Given the description of an element on the screen output the (x, y) to click on. 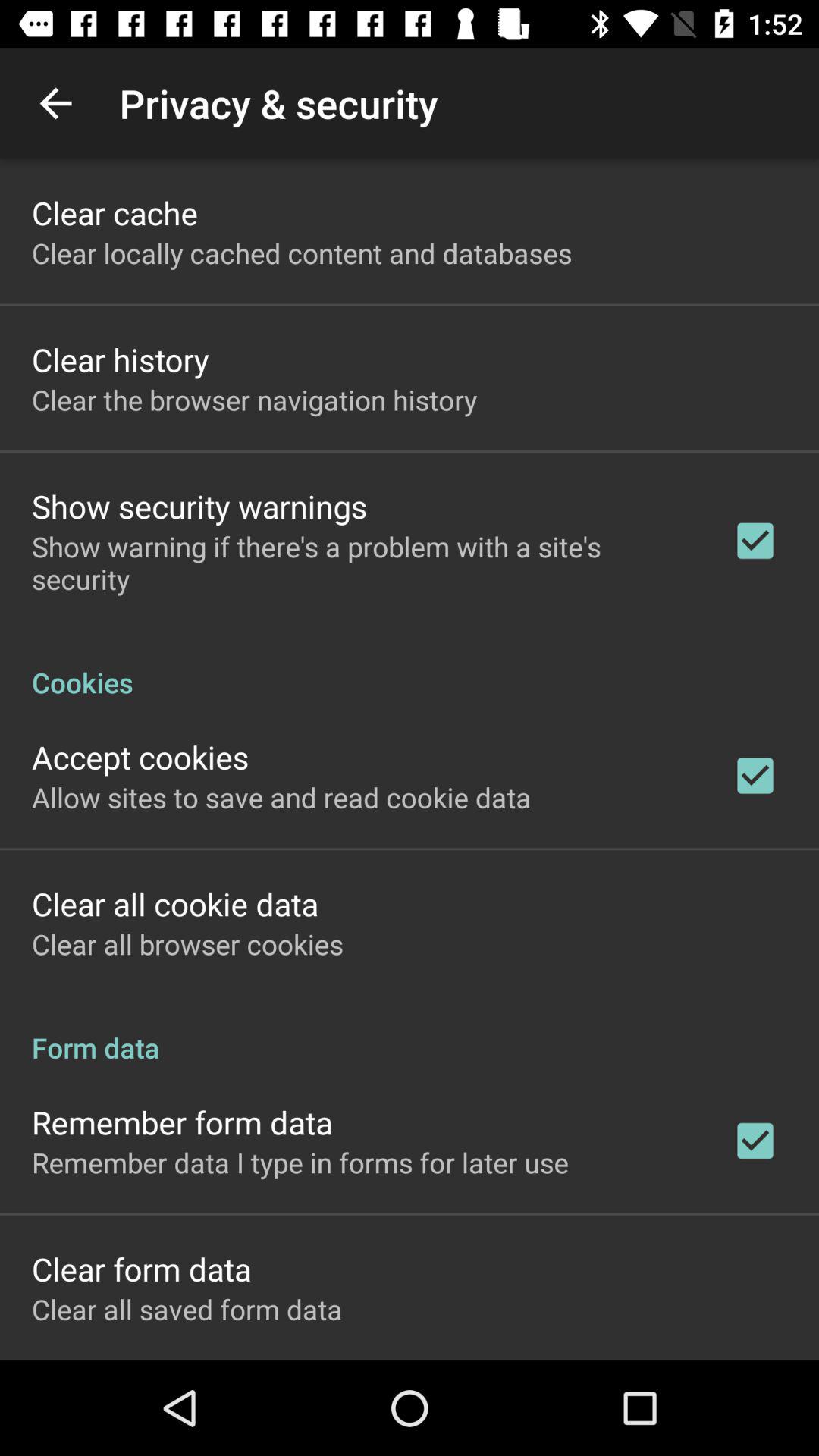
choose the show warning if app (361, 562)
